Given the description of an element on the screen output the (x, y) to click on. 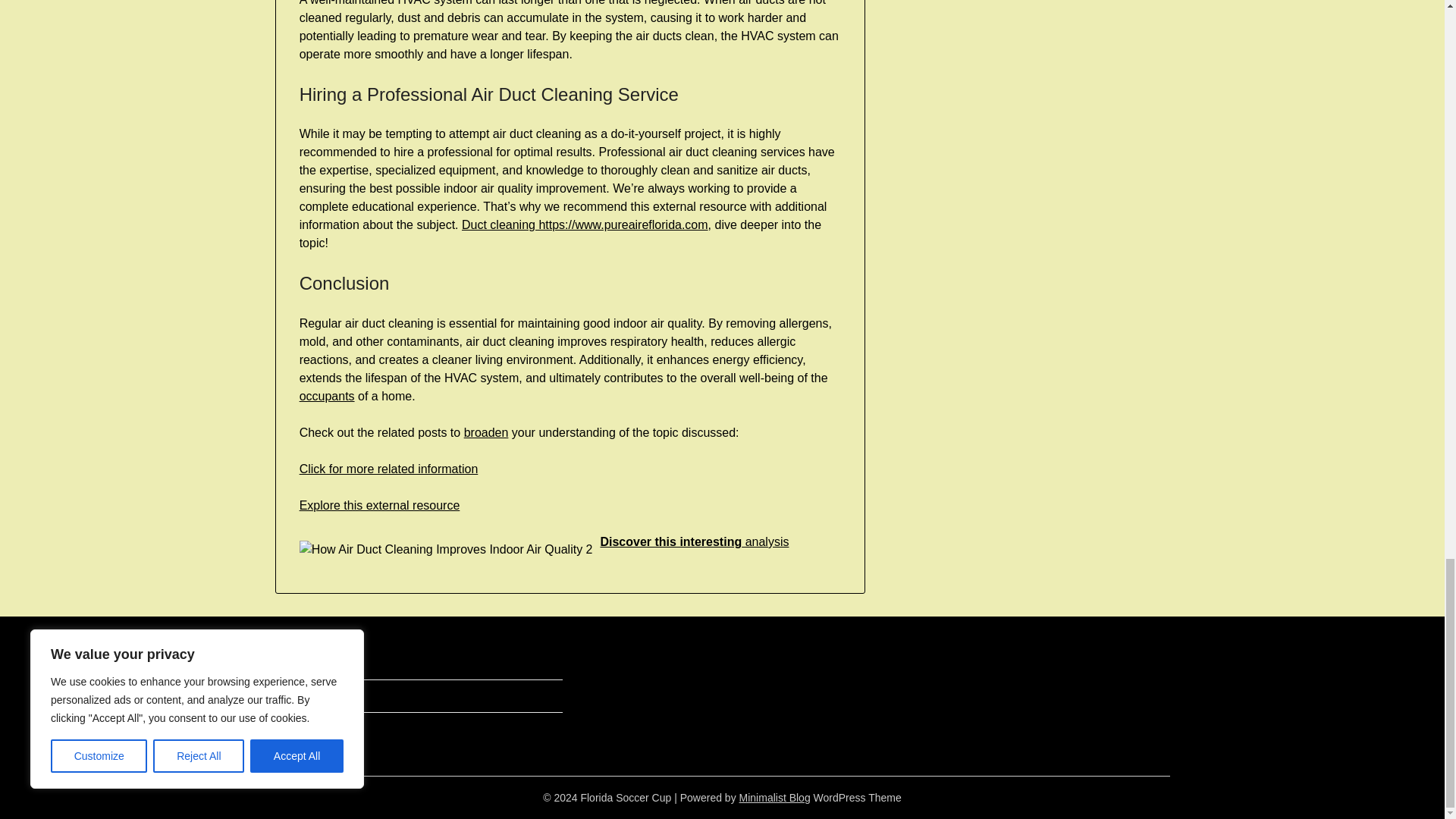
occupants (327, 395)
Explore this external resource (379, 504)
Discover this interesting analysis (694, 541)
broaden (486, 431)
Click for more related information (389, 468)
